Given the description of an element on the screen output the (x, y) to click on. 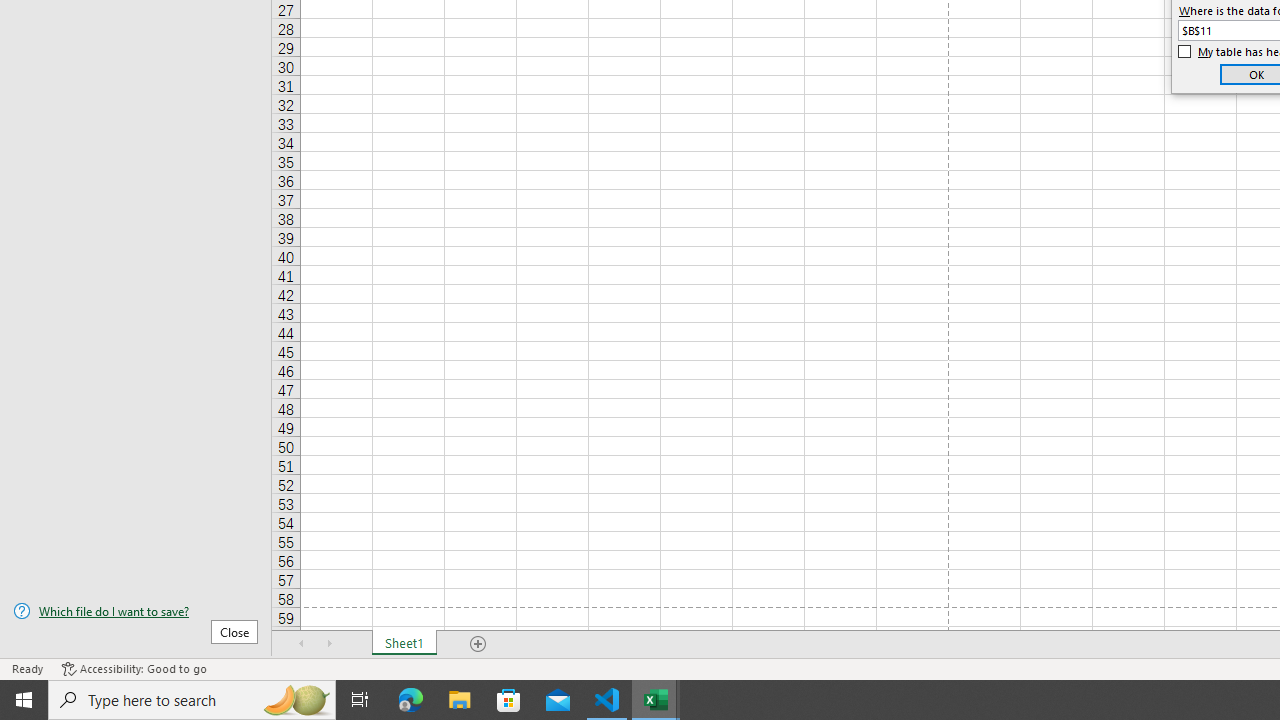
Which file do I want to save? (136, 611)
